Given the description of an element on the screen output the (x, y) to click on. 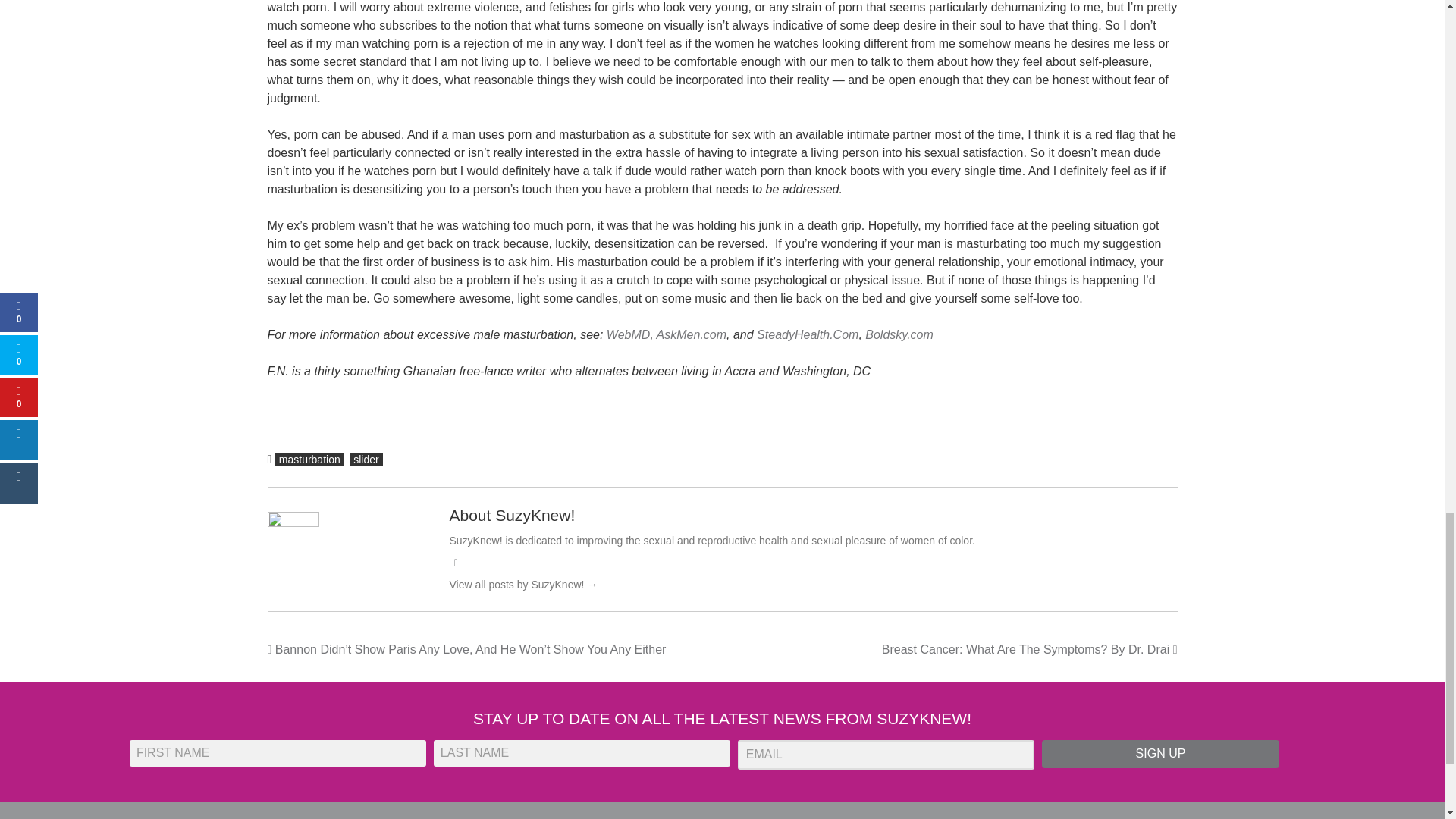
AskMen.com (691, 333)
SteadyHealth.Com (808, 333)
SIGN UP (1160, 754)
slider (365, 459)
Breast Cancer: What Are The Symptoms? By Dr. Drai (1029, 649)
masturbation (309, 459)
Website (455, 562)
WebMD (628, 333)
Boldsky.com (898, 333)
